Given the description of an element on the screen output the (x, y) to click on. 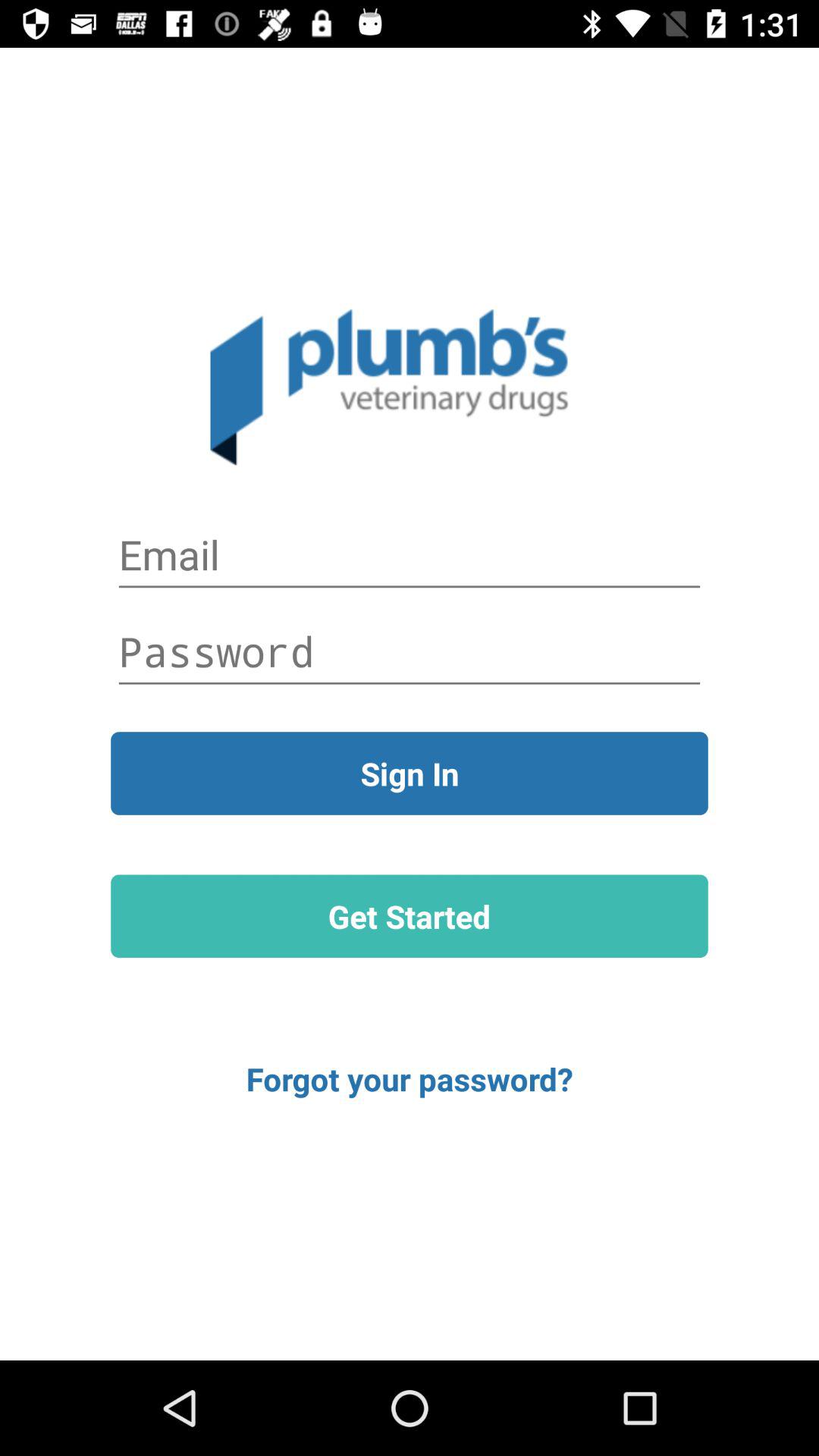
toggle autoplay option (409, 554)
